Given the description of an element on the screen output the (x, y) to click on. 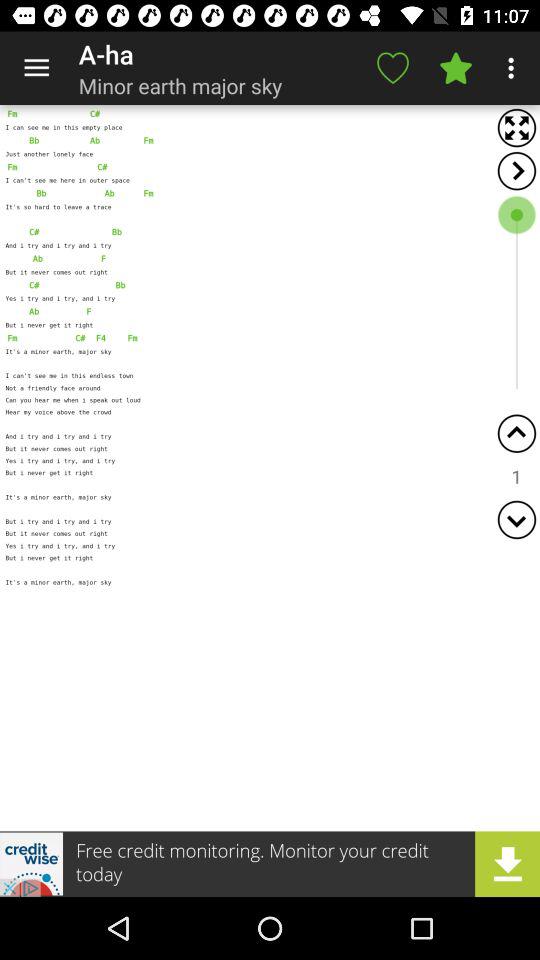
next (516, 170)
